Given the description of an element on the screen output the (x, y) to click on. 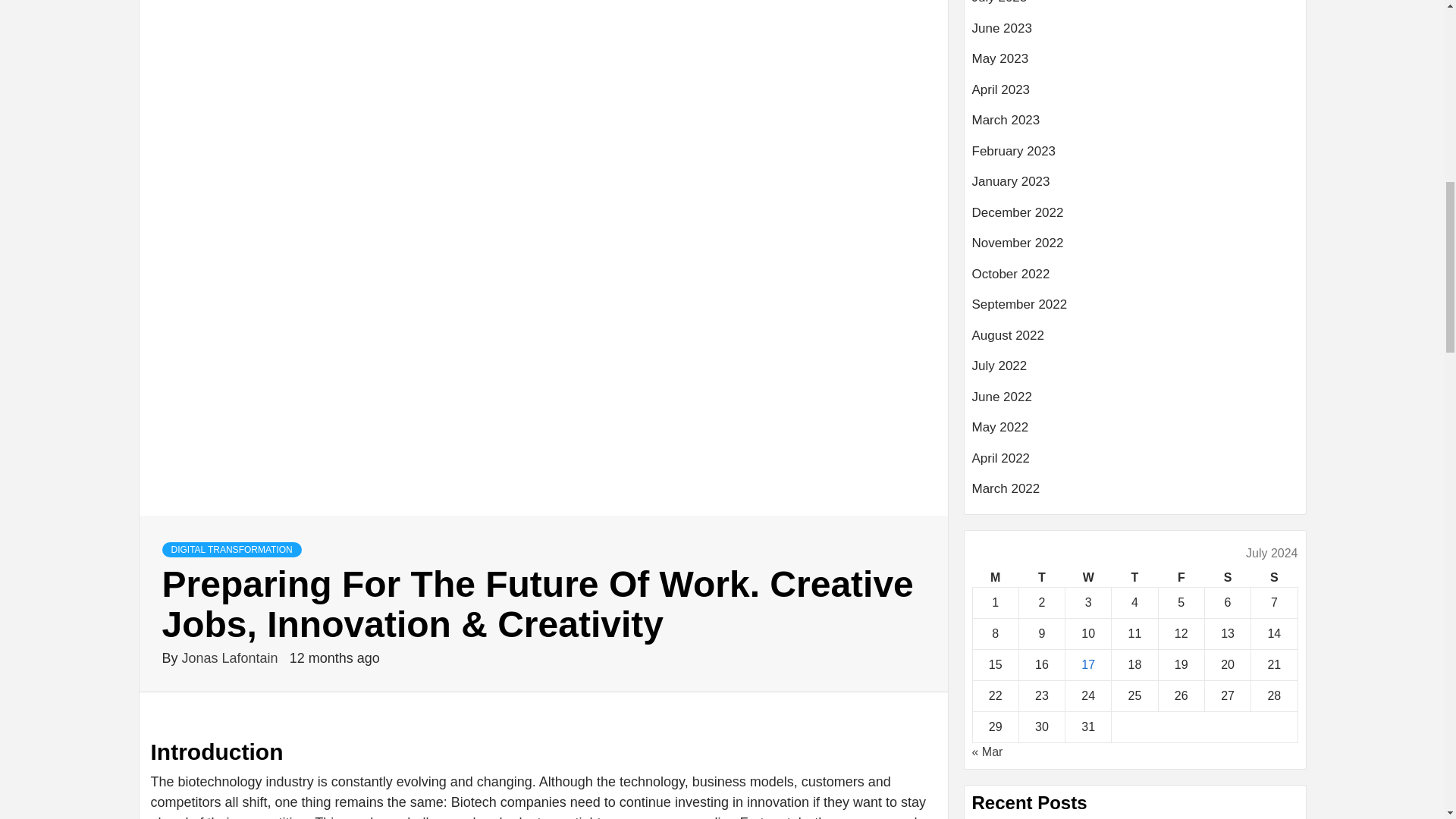
Thursday (1134, 578)
Friday (1180, 578)
November 2022 (1135, 248)
Saturday (1227, 578)
March 2023 (1135, 125)
June 2023 (1135, 33)
January 2023 (1135, 187)
December 2022 (1135, 218)
Sunday (1273, 578)
April 2023 (1135, 95)
May 2023 (1135, 64)
Jonas Lafontain (232, 657)
Wednesday (1088, 578)
Monday (994, 578)
Tuesday (1040, 578)
